Given the description of an element on the screen output the (x, y) to click on. 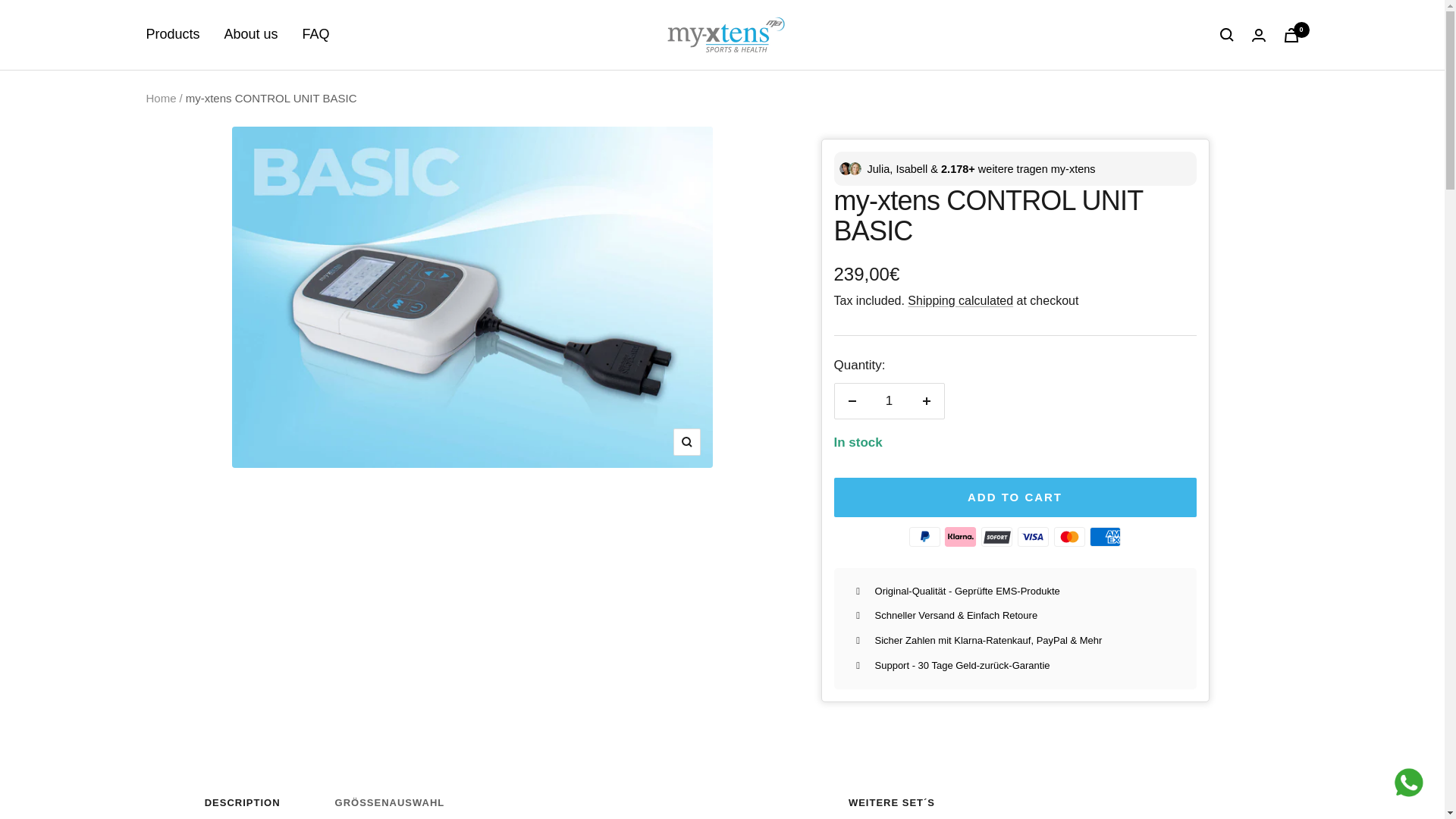
About us (251, 33)
Products (172, 33)
DESCRIPTION (243, 807)
Home (160, 97)
SOFORT (996, 537)
Shipping calculated (960, 300)
PayPal (924, 537)
1 (888, 401)
Klarna (959, 537)
FAQ (316, 33)
ADD TO CART (1015, 496)
Zoom (686, 441)
Decrease quantity (851, 401)
my-xtens (722, 34)
Mastercard (1069, 537)
